Given the description of an element on the screen output the (x, y) to click on. 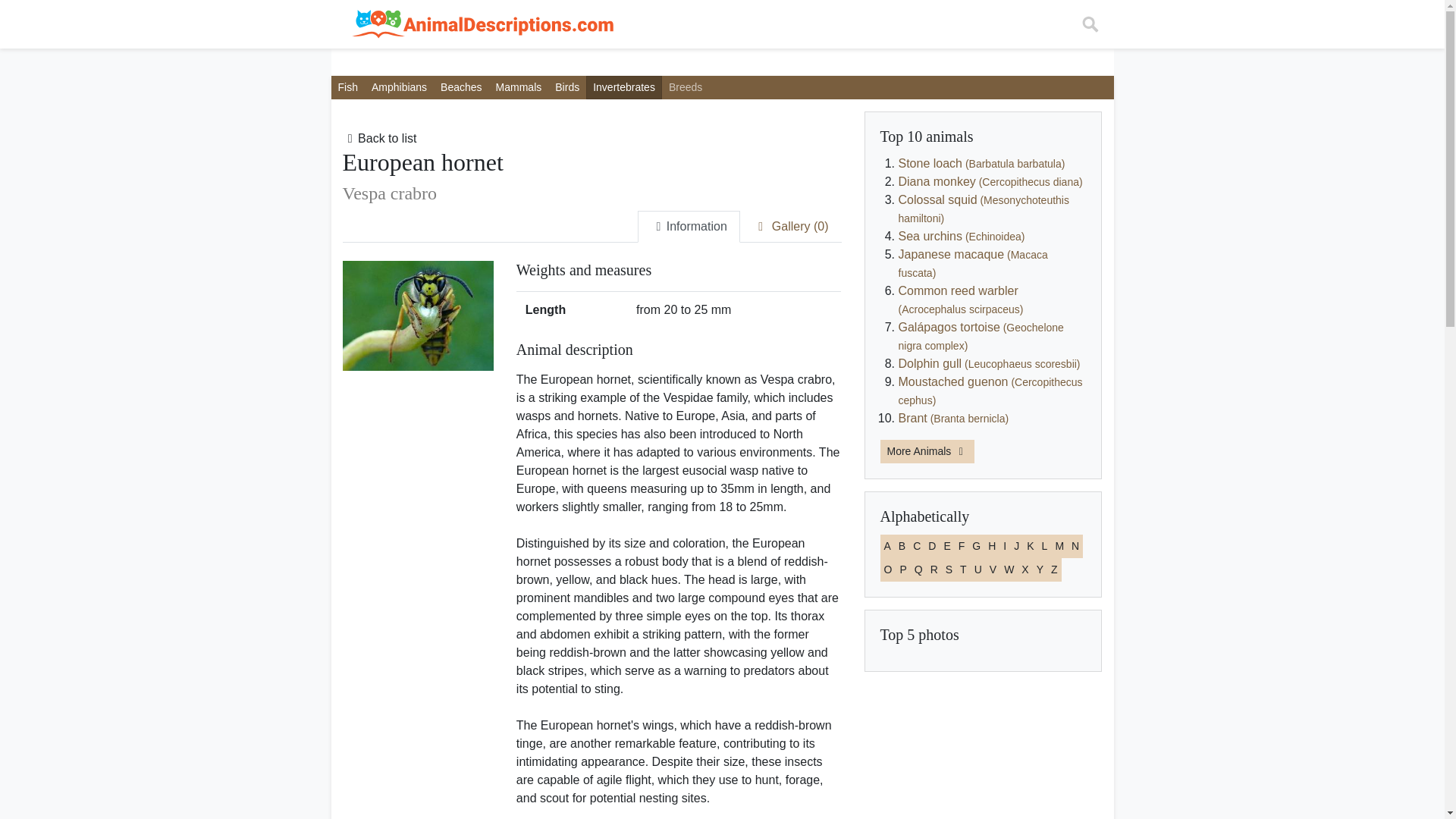
Fish (347, 87)
Mammals (518, 87)
Beaches (460, 87)
More Animals (926, 451)
Breeds (685, 87)
Invertebrates (624, 87)
Amphibians (399, 87)
Information (688, 226)
Birds (567, 87)
Back to list (379, 137)
